Given the description of an element on the screen output the (x, y) to click on. 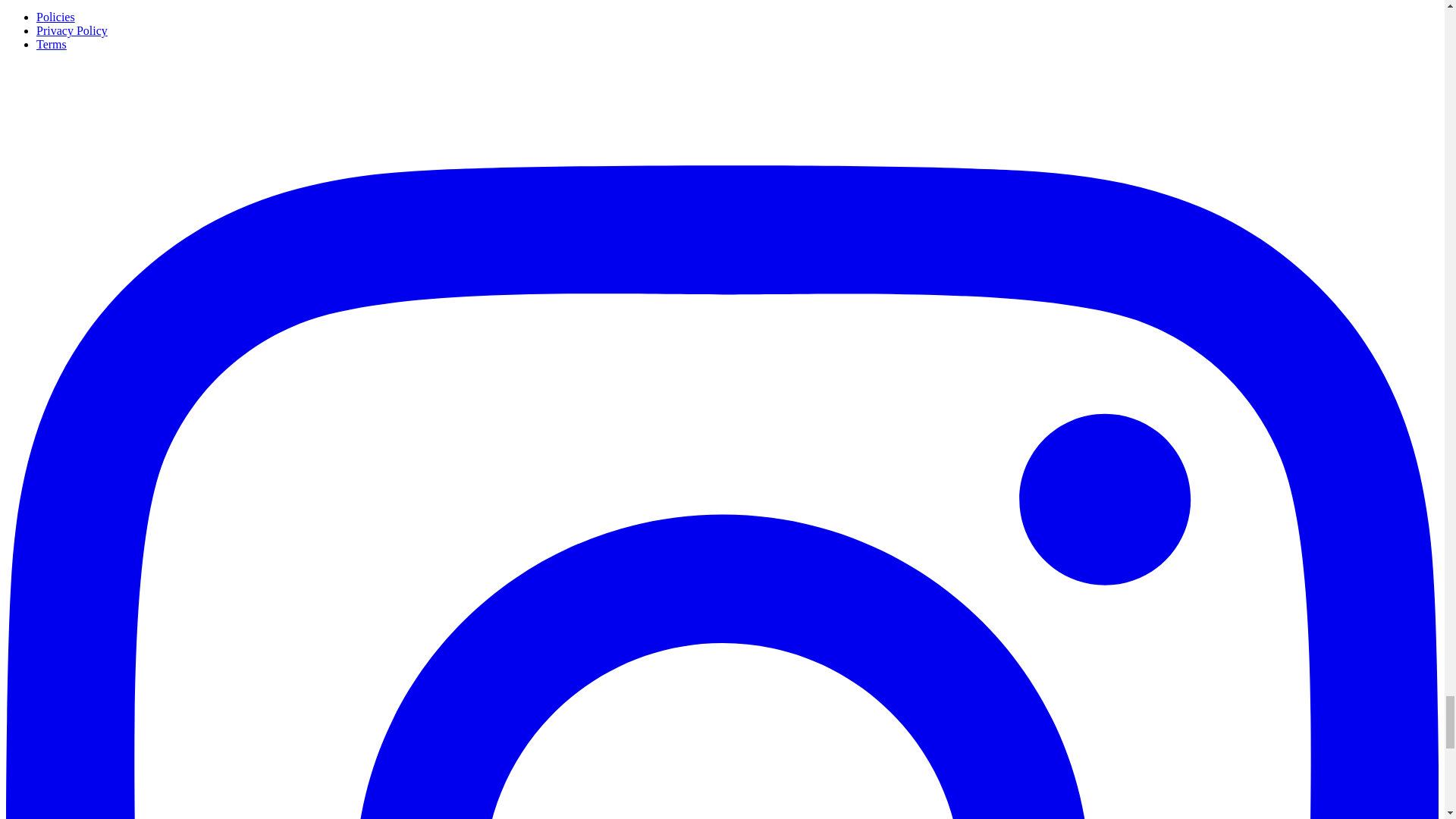
Privacy Policy (71, 30)
Terms (51, 43)
Policies (55, 16)
